Given the description of an element on the screen output the (x, y) to click on. 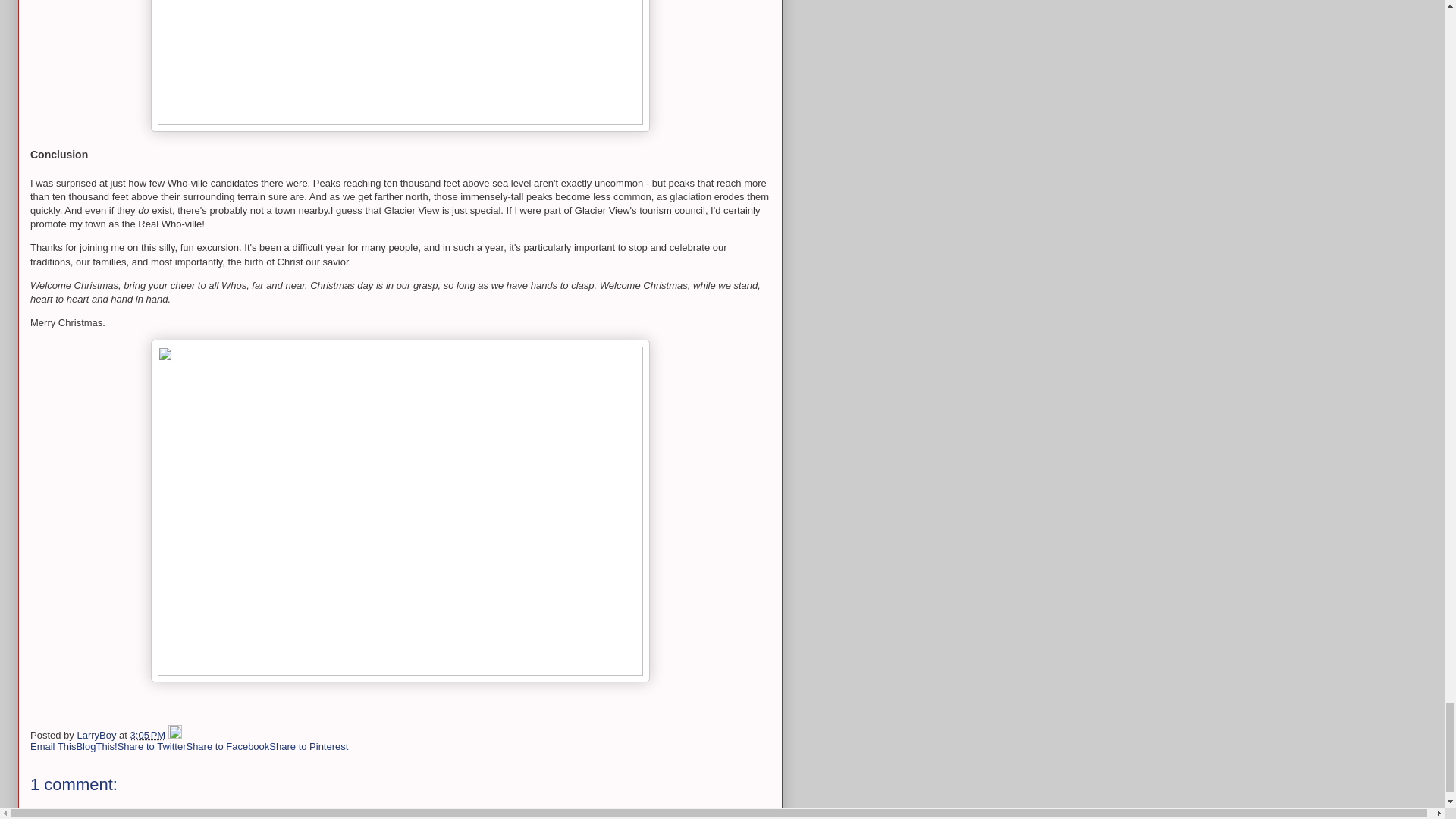
BlogThis! (95, 746)
LarryBoy (98, 735)
Share to Twitter (151, 746)
Share to Pinterest (308, 746)
Email This (52, 746)
Edit Post (175, 735)
author profile (98, 735)
Email This (52, 746)
BlogThis! (95, 746)
